Given the description of an element on the screen output the (x, y) to click on. 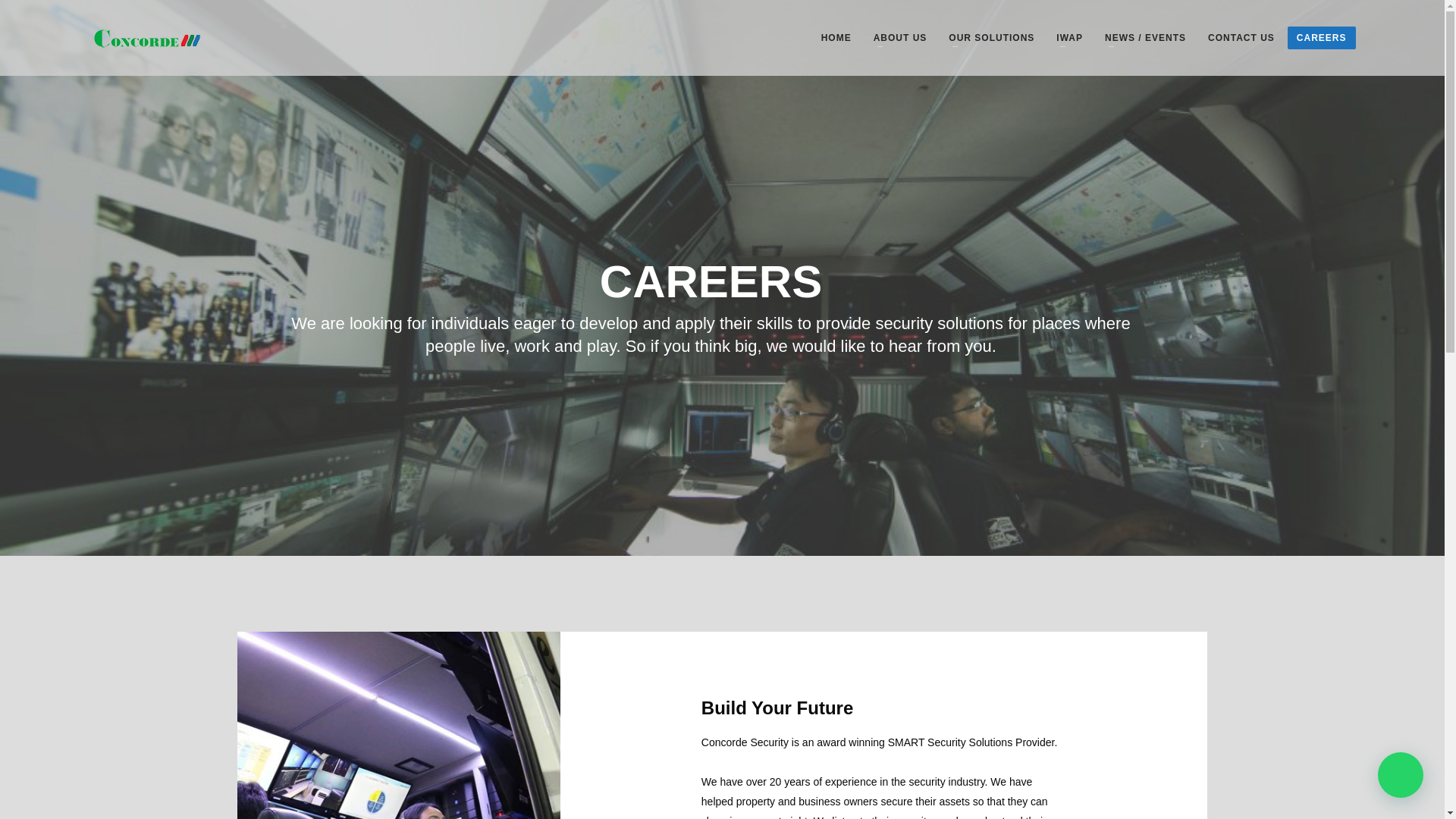
HOME (836, 37)
CONTACT US (1241, 37)
CAREERS (1321, 37)
IWAP (1069, 37)
ABOUT US (900, 37)
We Create... a Matrix of Intelligence (147, 38)
OUR SOLUTIONS (991, 37)
